Given the description of an element on the screen output the (x, y) to click on. 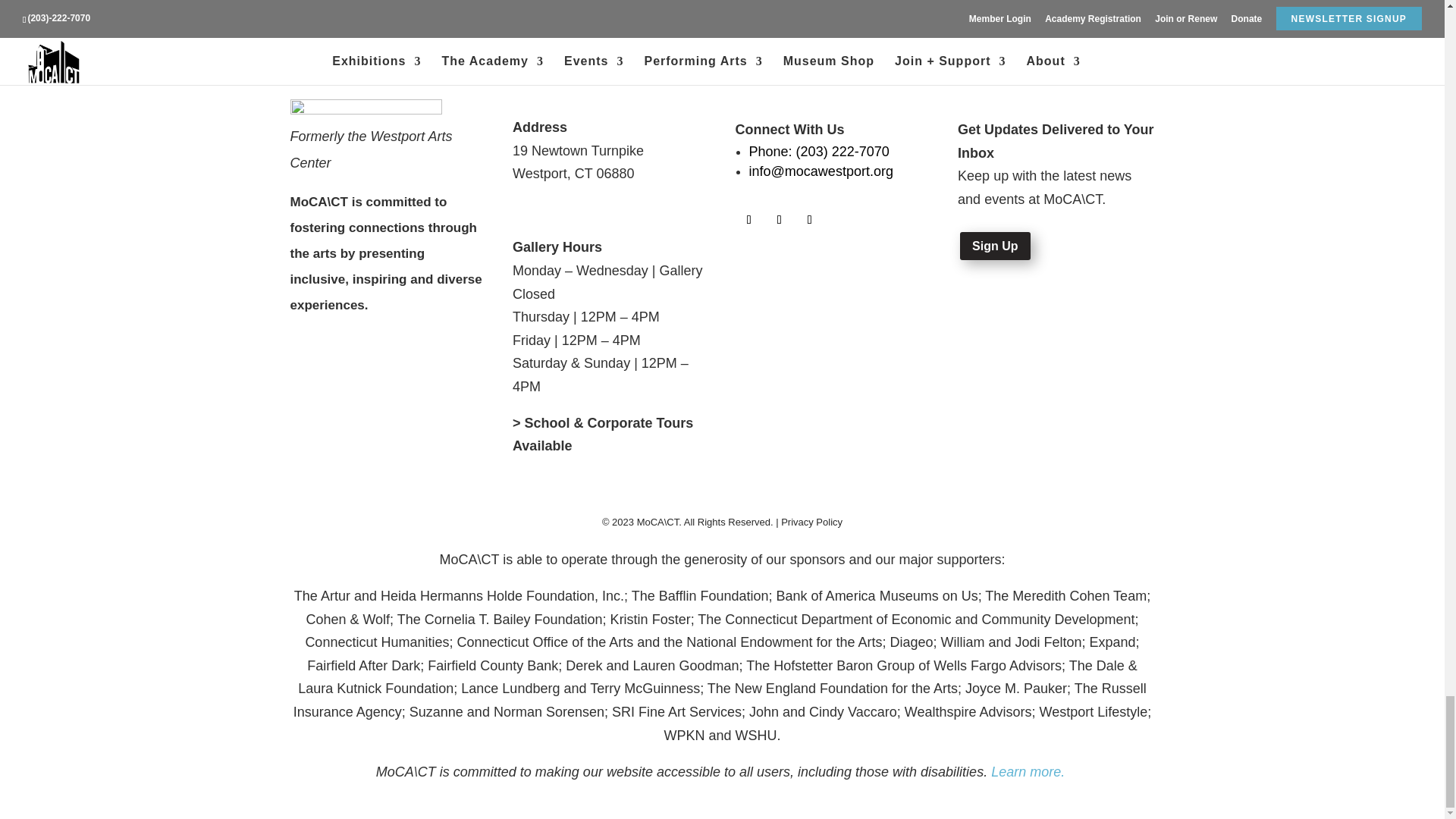
Follow on Youtube (809, 219)
Follow on Instagram (779, 219)
Follow on Facebook (748, 219)
